Given the description of an element on the screen output the (x, y) to click on. 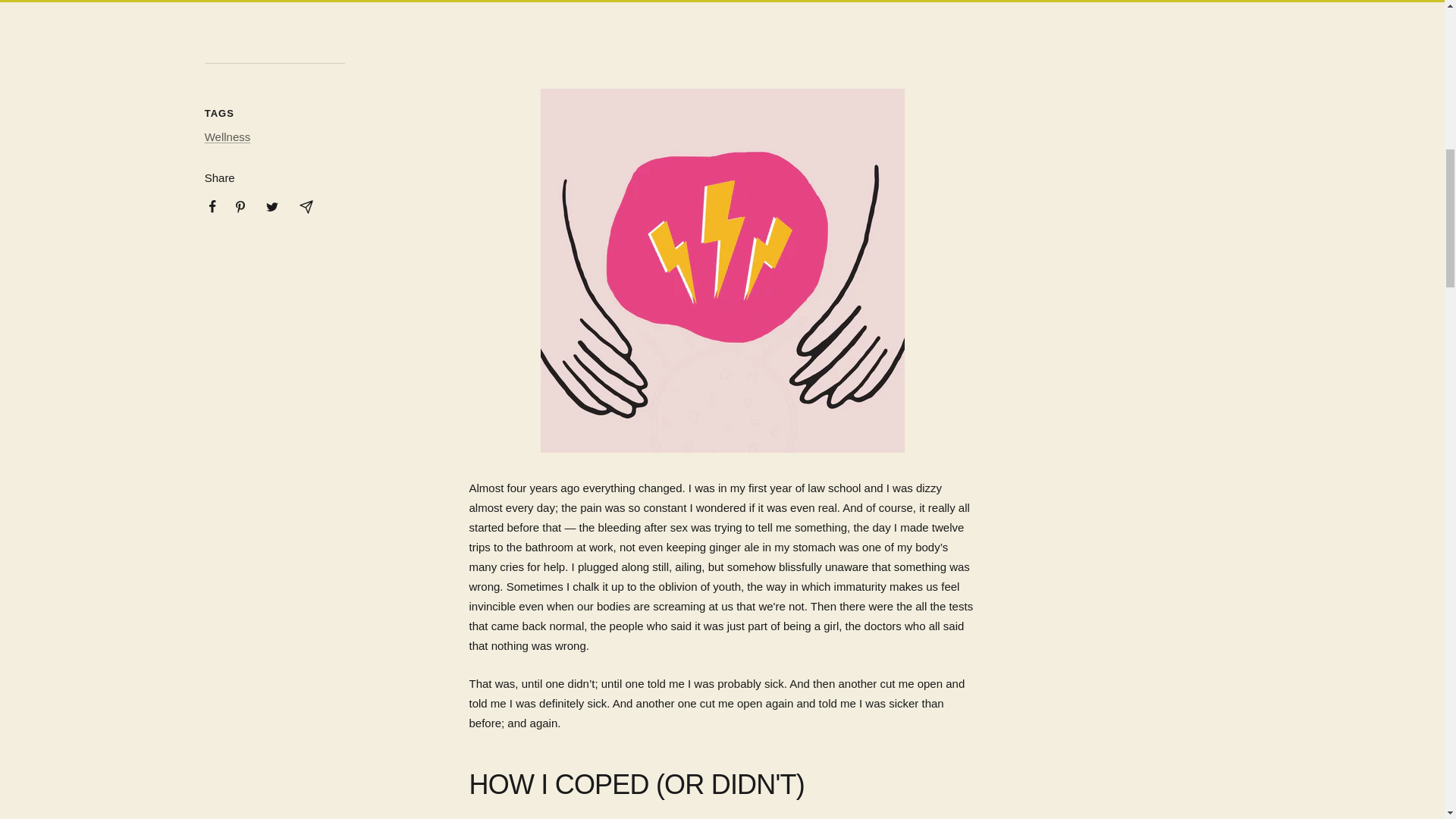
Wellness (227, 136)
